Given the description of an element on the screen output the (x, y) to click on. 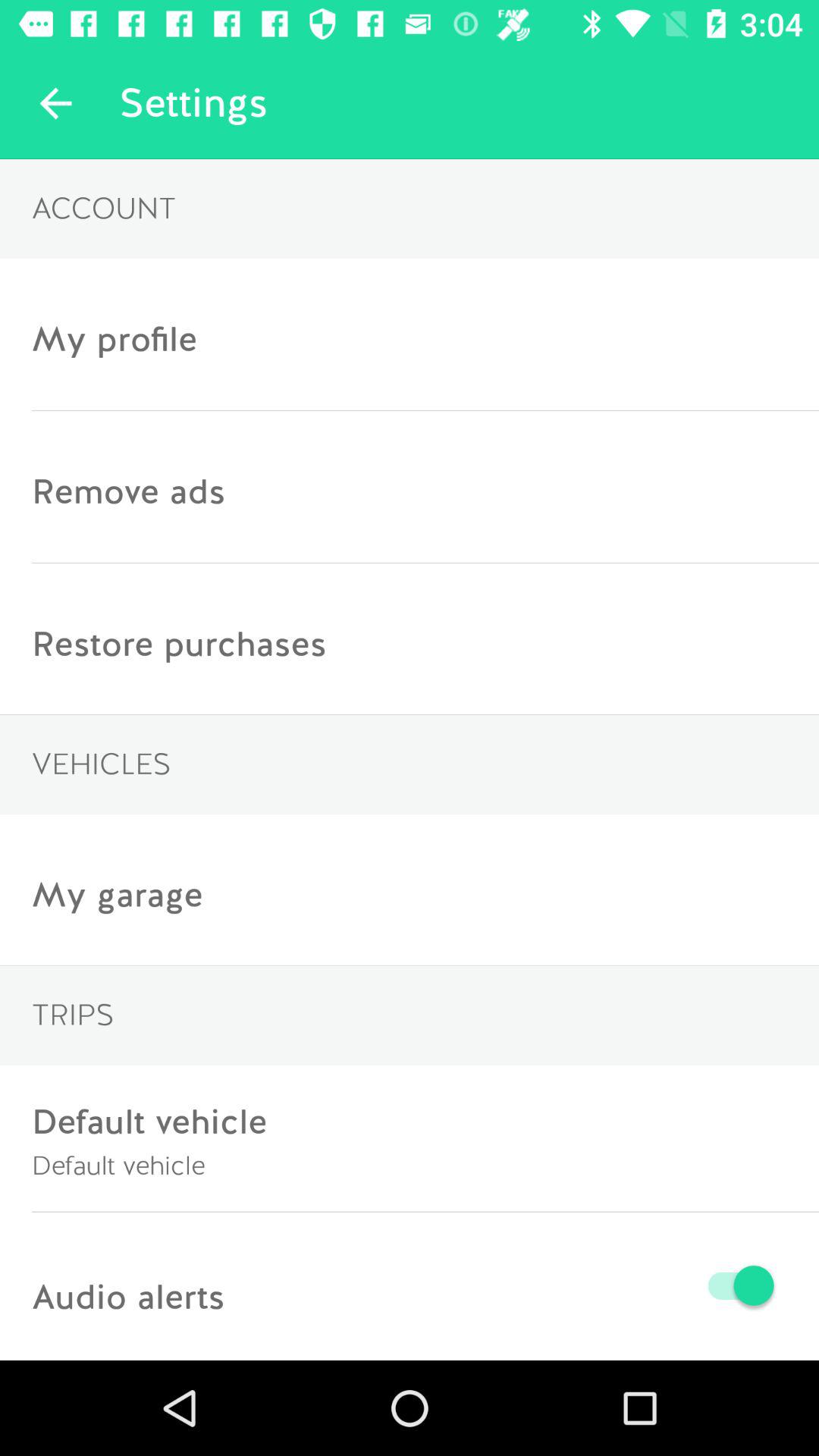
press icon to the left of settings icon (55, 103)
